Given the description of an element on the screen output the (x, y) to click on. 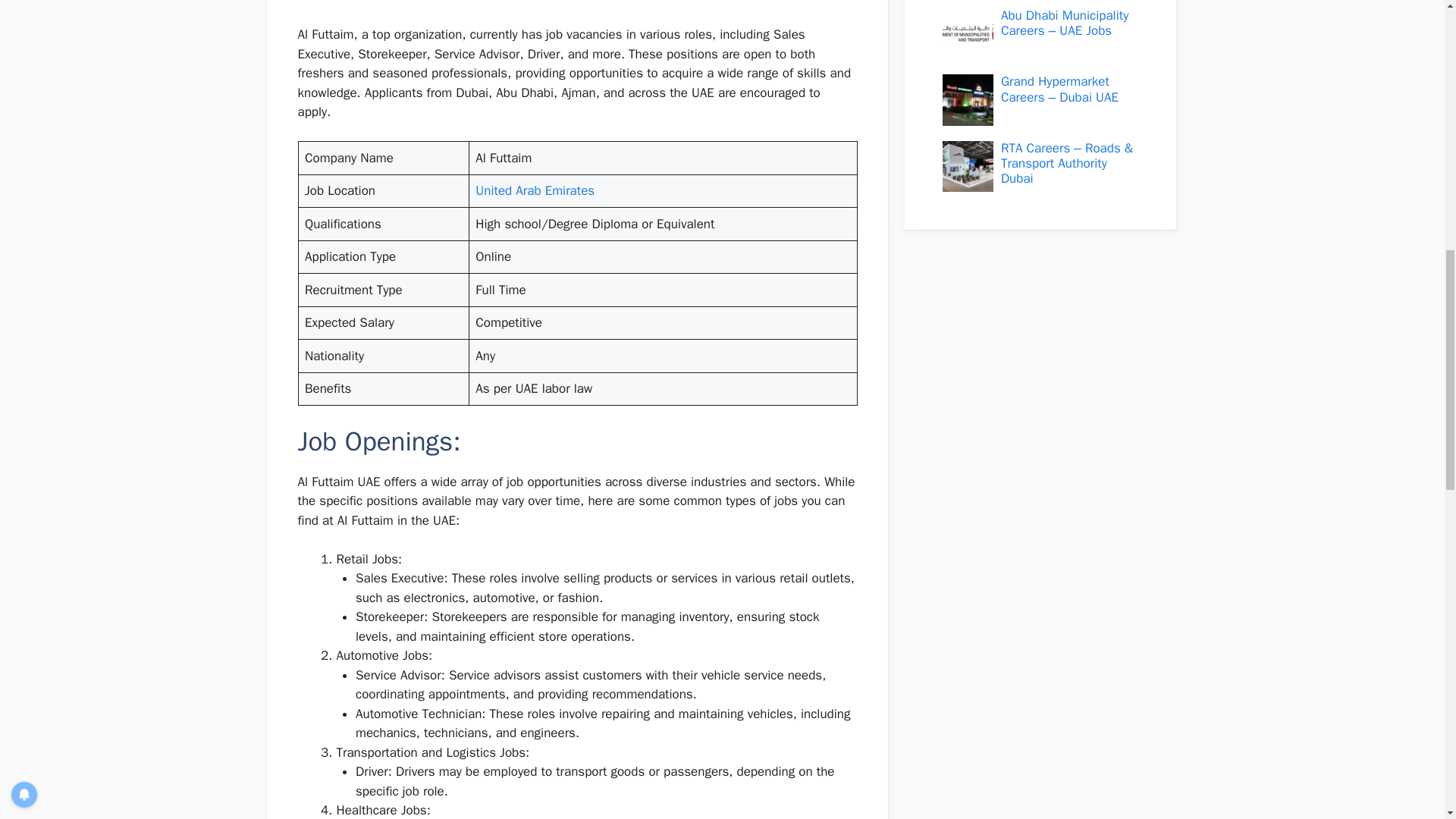
United Arab Emirates (535, 190)
